Given the description of an element on the screen output the (x, y) to click on. 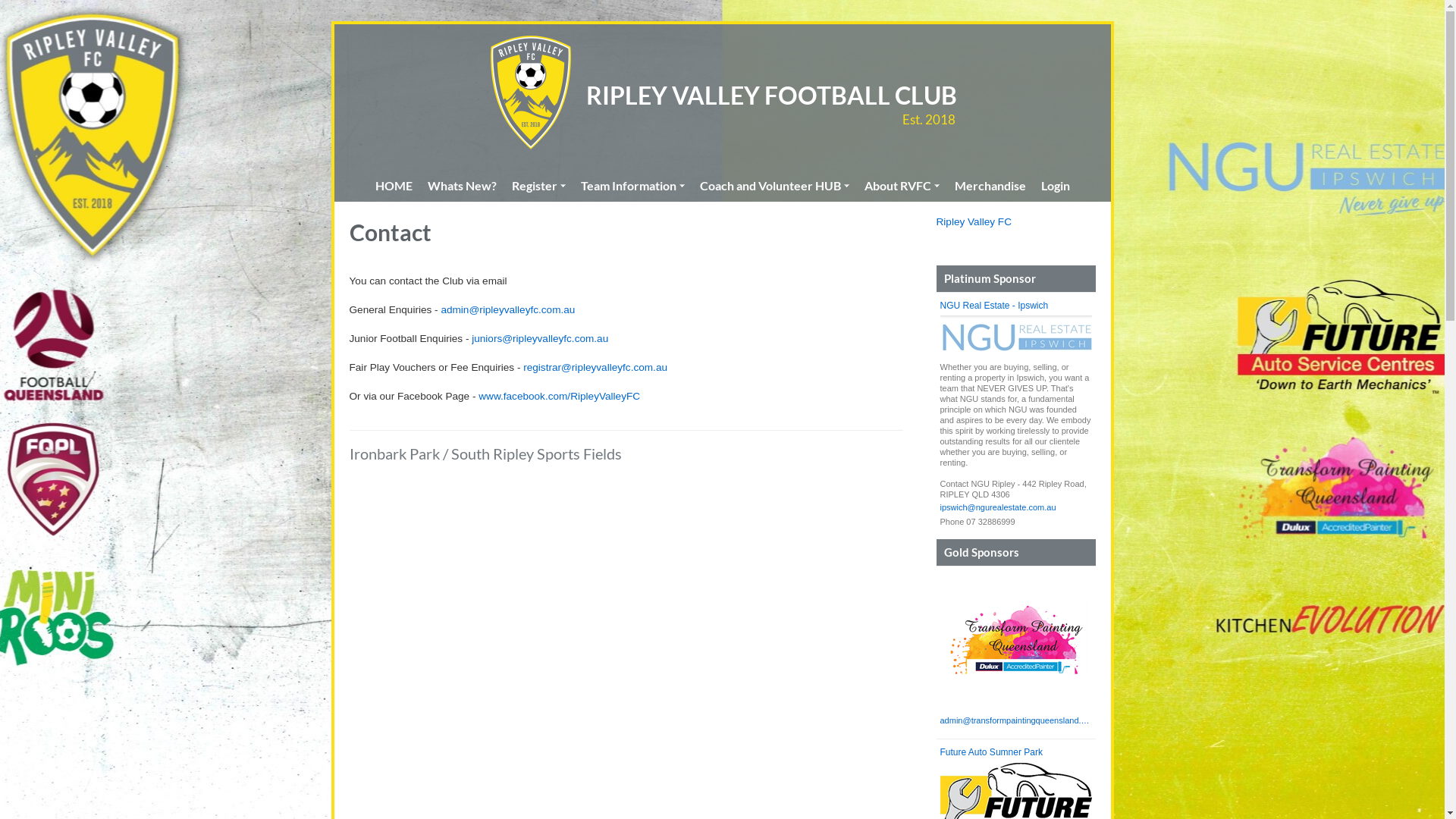
admin@ripleyvalleyfc.com.au Element type: text (507, 309)
HOME Element type: text (393, 185)
juniors@ripleyvalleyfc.com.au Element type: text (539, 338)
RIPLEY VALLEY FOOTBALL CLUB
Est. 2018 Element type: text (770, 95)
Future Auto Sumner Park Element type: text (1016, 752)
Coach and Volunteer HUB Element type: text (773, 185)
Merchandise Element type: text (989, 185)
Login Element type: text (1054, 185)
www.facebook.com/RipleyValleyFC Element type: text (559, 395)
admin@transformpaintingqueensland.com Element type: text (1016, 721)
Ripley Valley FC Element type: text (972, 221)
registrar@ripleyvalleyfc.com.au Element type: text (595, 367)
NGU Real Estate - Ipswich Element type: text (1016, 306)
Whats New? Element type: text (462, 185)
ipswich@ngurealestate.com.au Element type: text (1016, 508)
Team Information Element type: text (632, 185)
Register Element type: text (537, 185)
About RVFC Element type: text (901, 185)
